Given the description of an element on the screen output the (x, y) to click on. 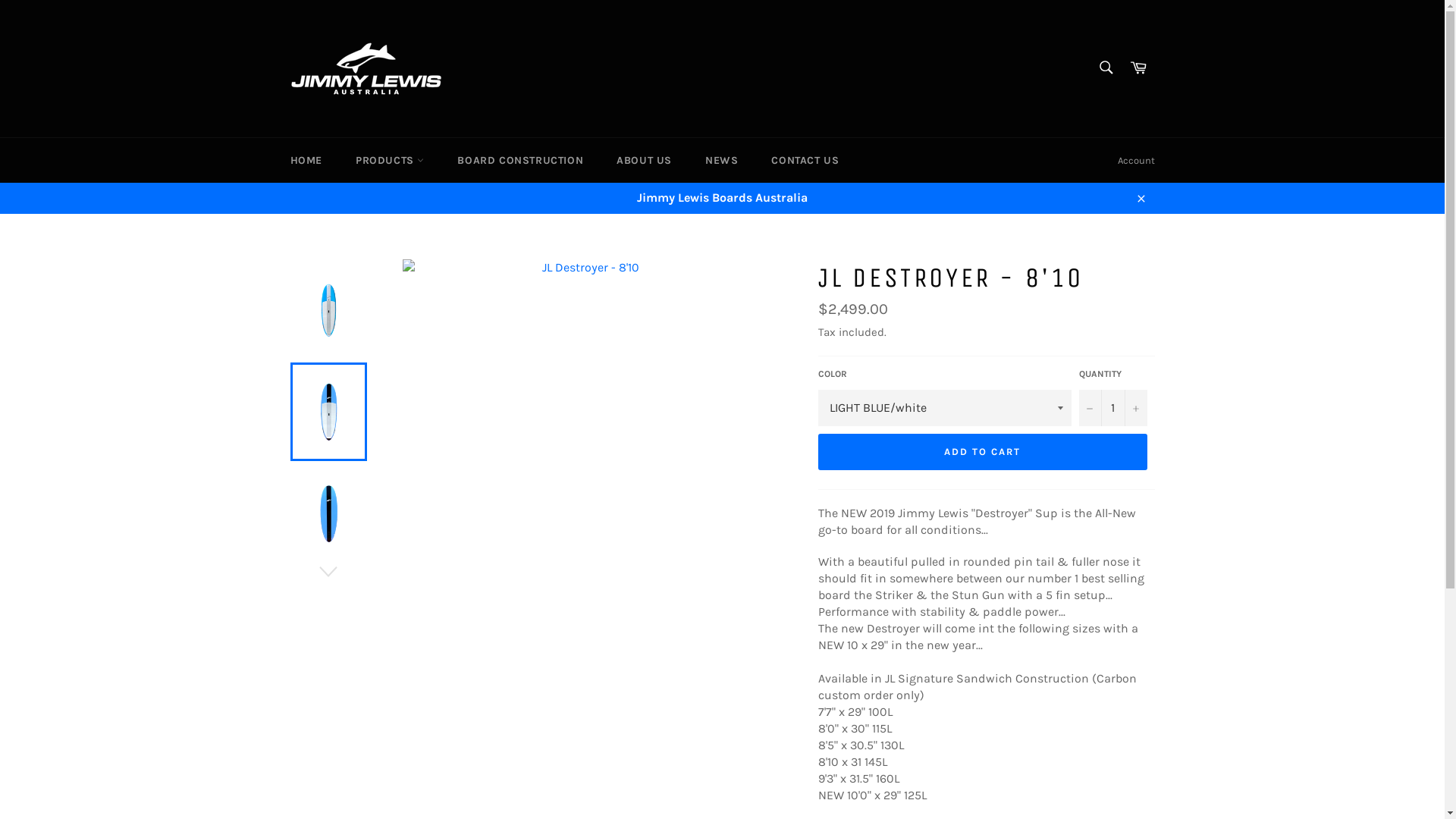
Cart Element type: text (1138, 68)
HOME Element type: text (305, 160)
+ Element type: text (1134, 407)
BOARD CONSTRUCTION Element type: text (520, 160)
Account Element type: text (1136, 160)
ADD TO CART Element type: text (981, 451)
PRODUCTS Element type: text (389, 160)
NEWS Element type: text (721, 160)
Close Element type: text (1139, 197)
CONTACT US Element type: text (804, 160)
Search Element type: text (1105, 67)
ABOUT US Element type: text (644, 160)
